Given the description of an element on the screen output the (x, y) to click on. 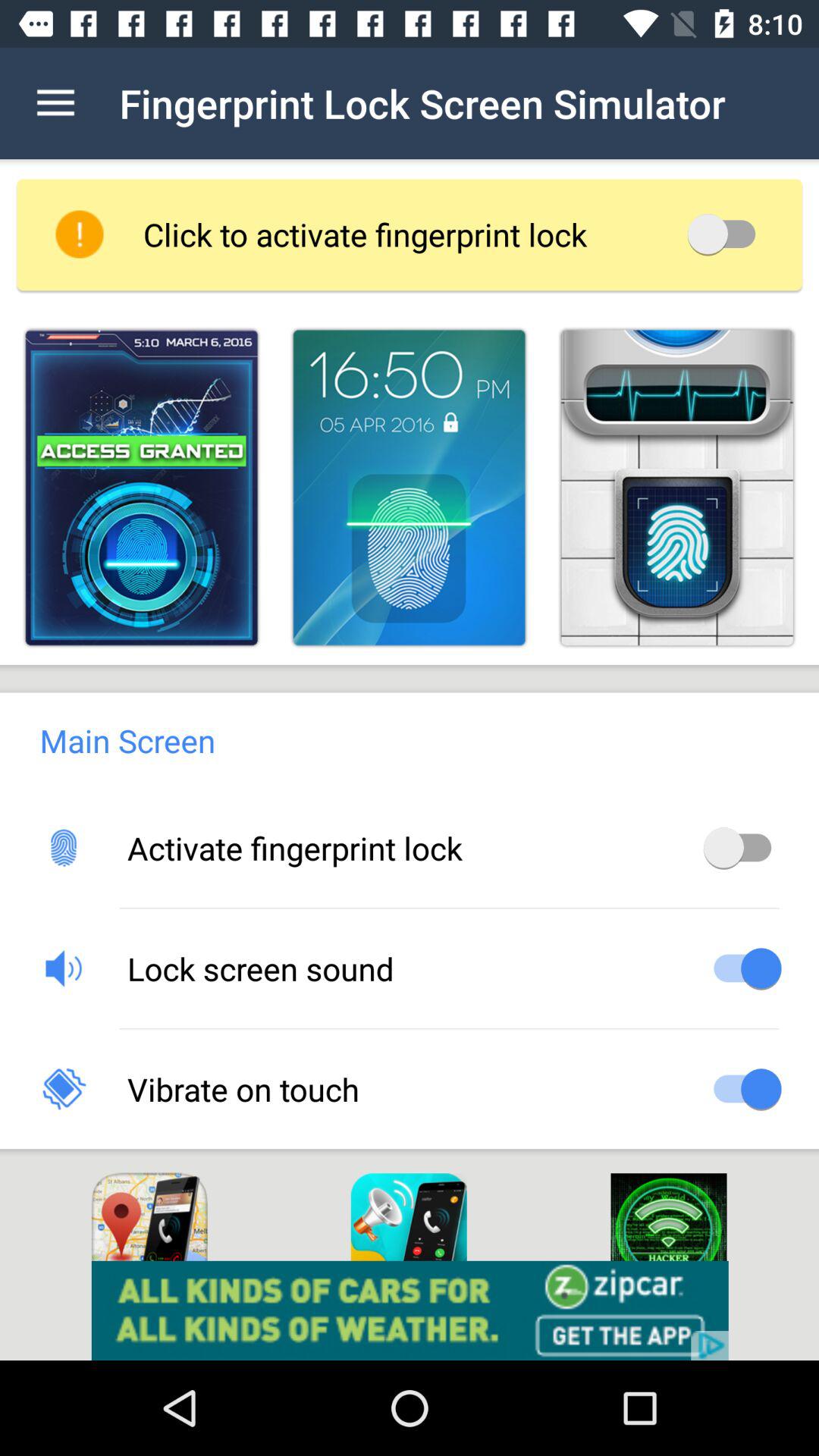
turn off lock screen sound (742, 968)
